Given the description of an element on the screen output the (x, y) to click on. 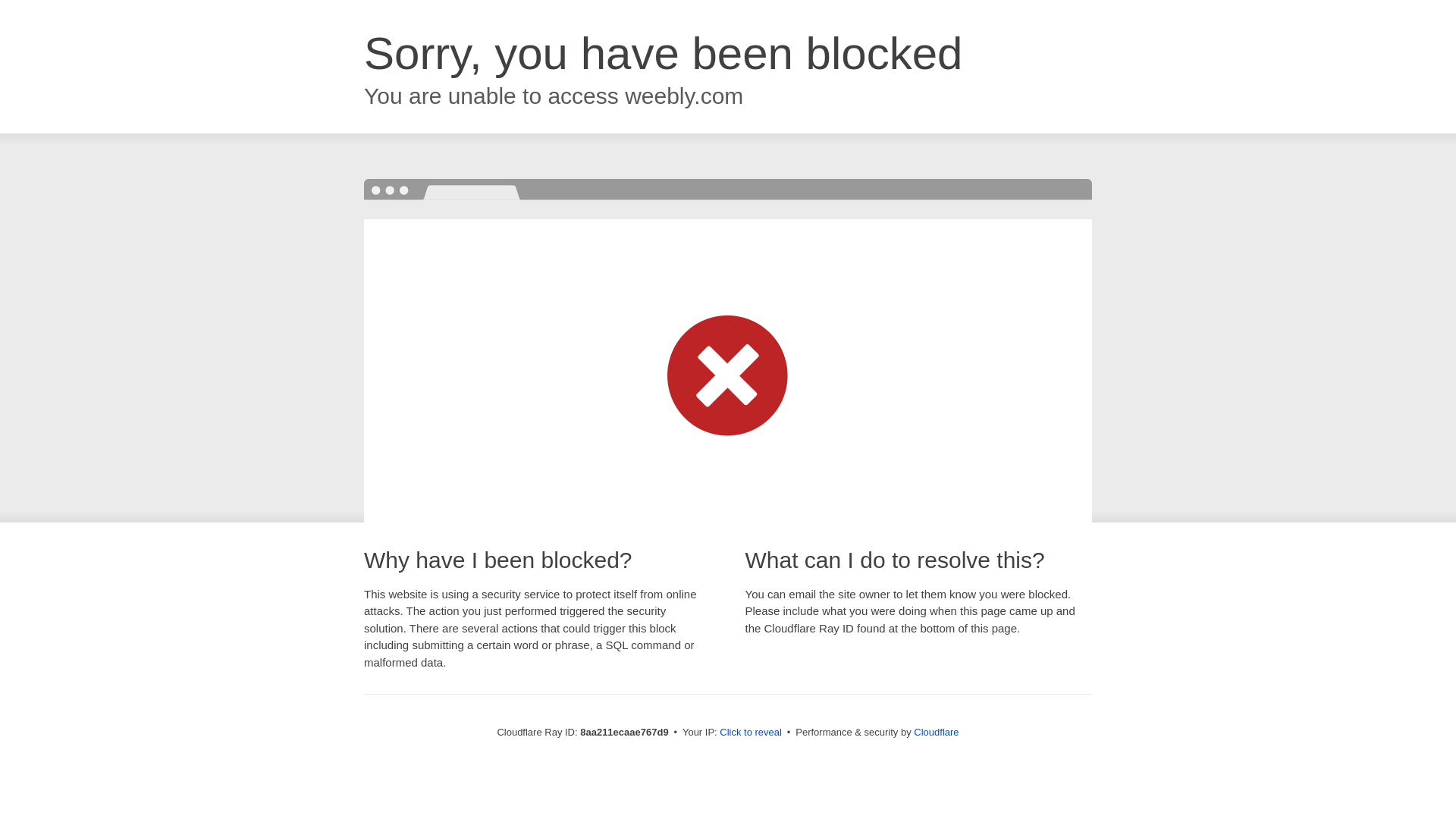
Click to reveal (750, 732)
Cloudflare (936, 731)
